Given the description of an element on the screen output the (x, y) to click on. 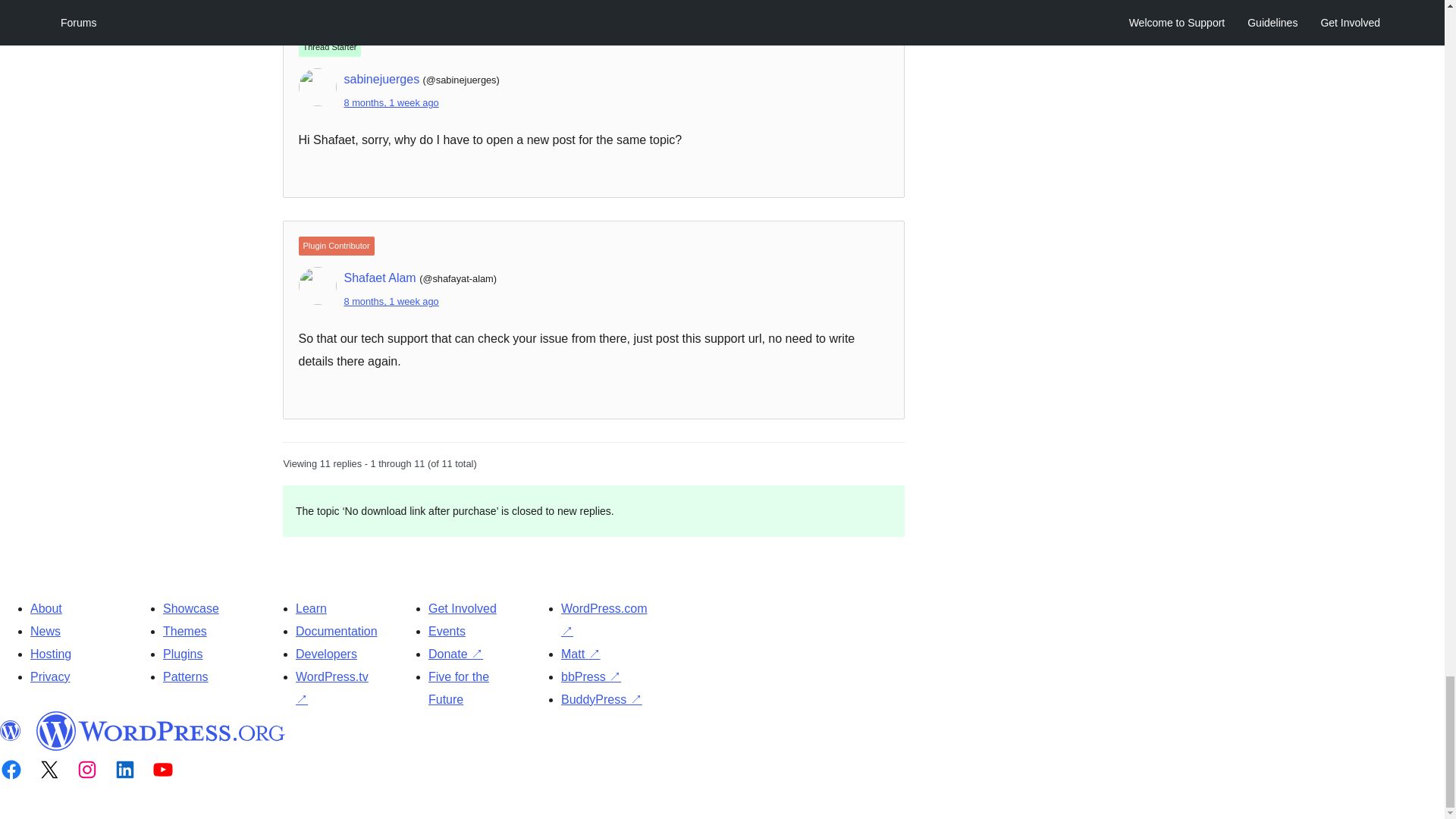
WordPress.org (160, 731)
WordPress.org (10, 731)
